Given the description of an element on the screen output the (x, y) to click on. 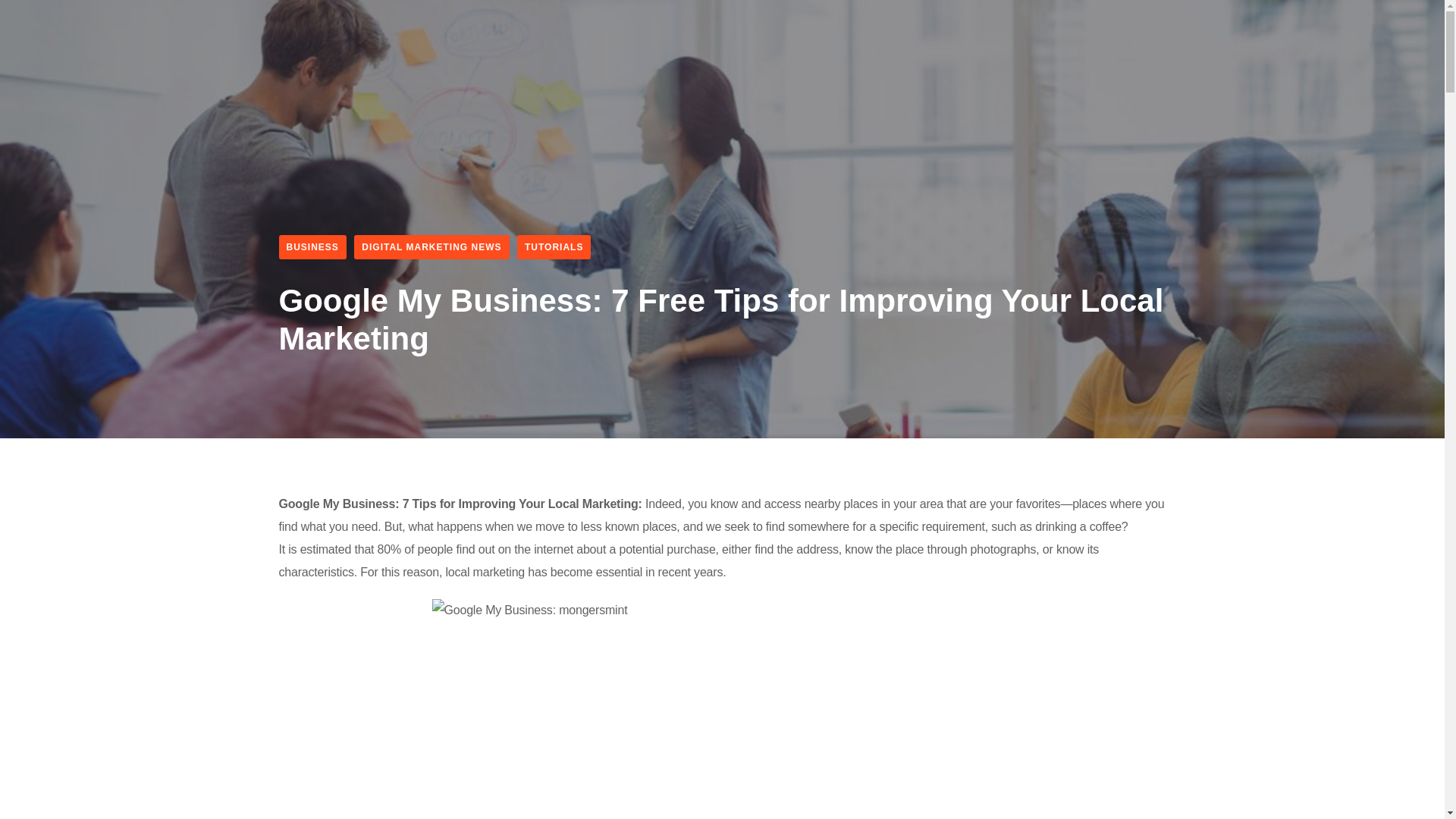
TUTORIALS (553, 247)
DIGITAL MARKETING NEWS (430, 247)
BUSINESS (312, 247)
